Given the description of an element on the screen output the (x, y) to click on. 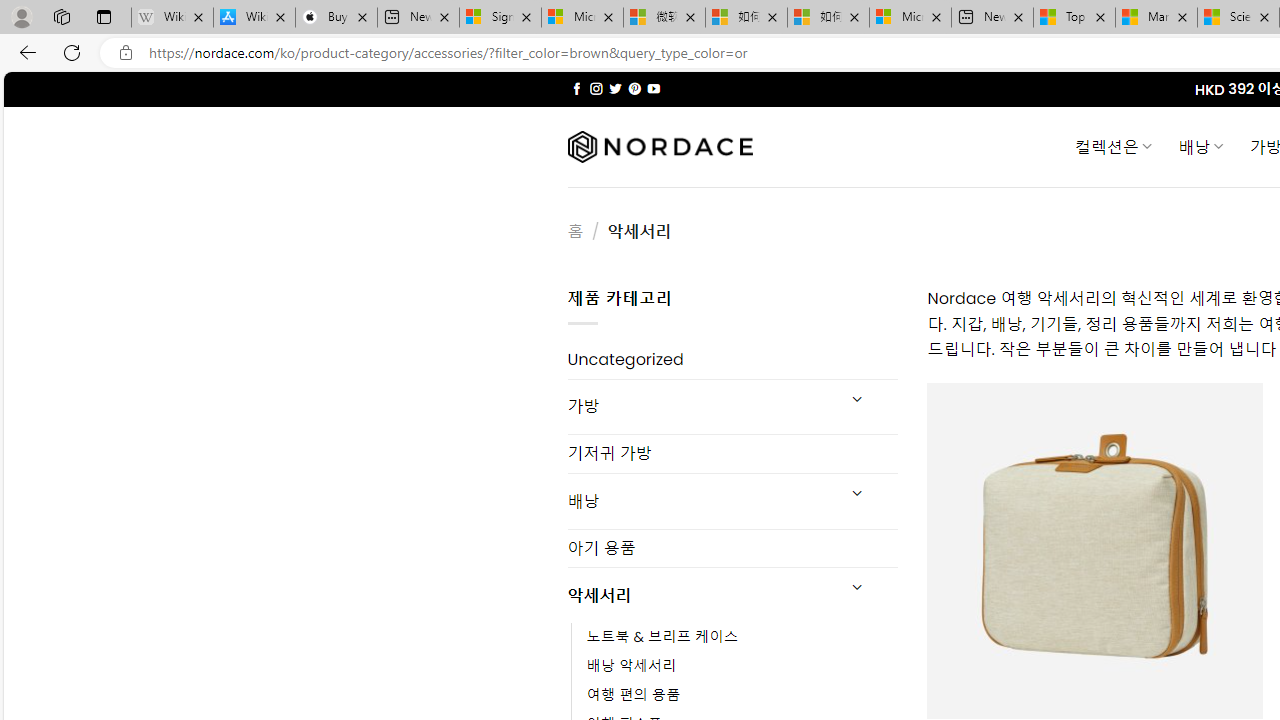
Top Stories - MSN (1074, 17)
Buy iPad - Apple (336, 17)
Follow on Facebook (576, 88)
Sign in to your Microsoft account (500, 17)
Uncategorized (732, 359)
